Given the description of an element on the screen output the (x, y) to click on. 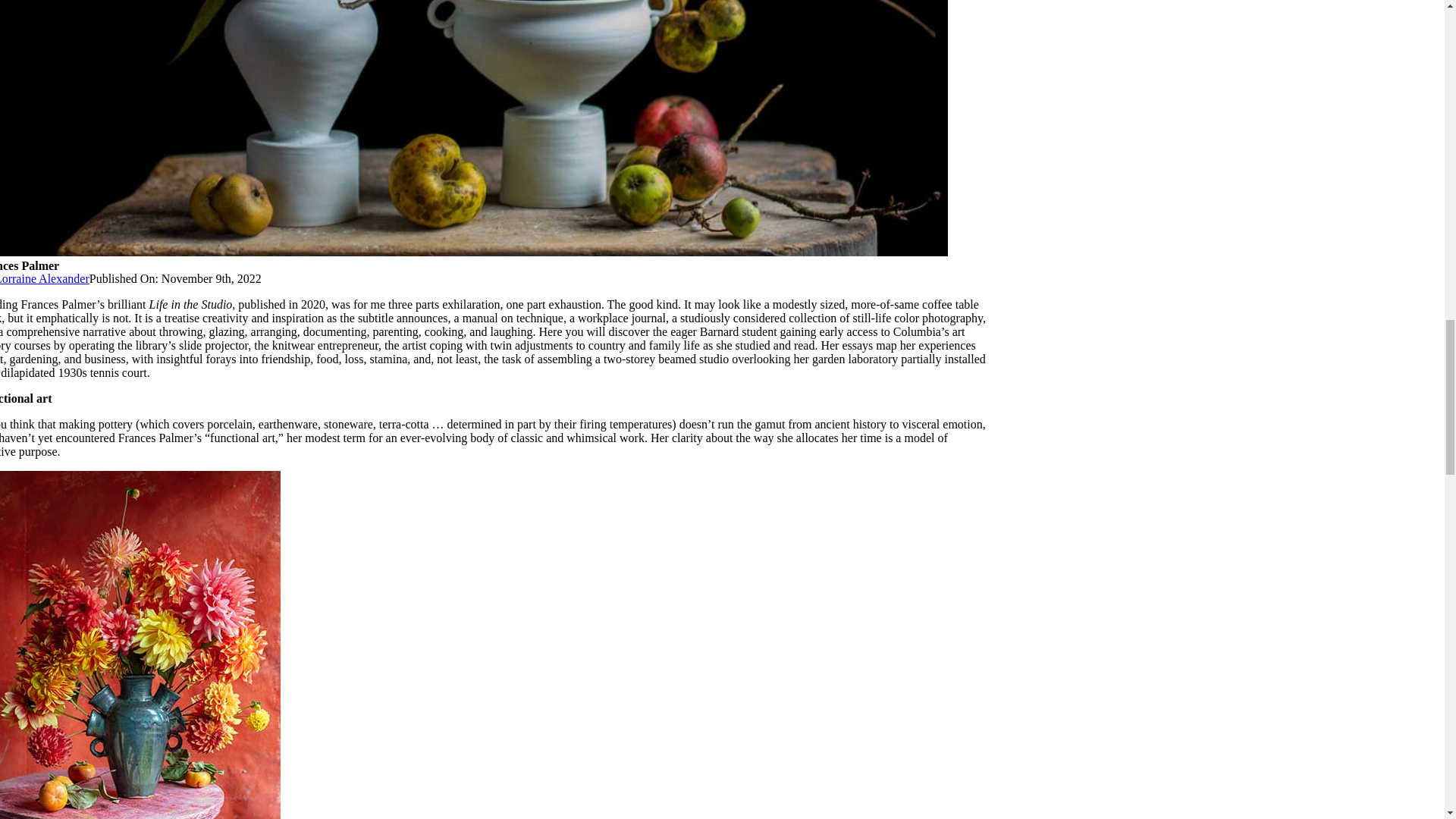
Posts by Lorraine Alexander (44, 278)
